Given the description of an element on the screen output the (x, y) to click on. 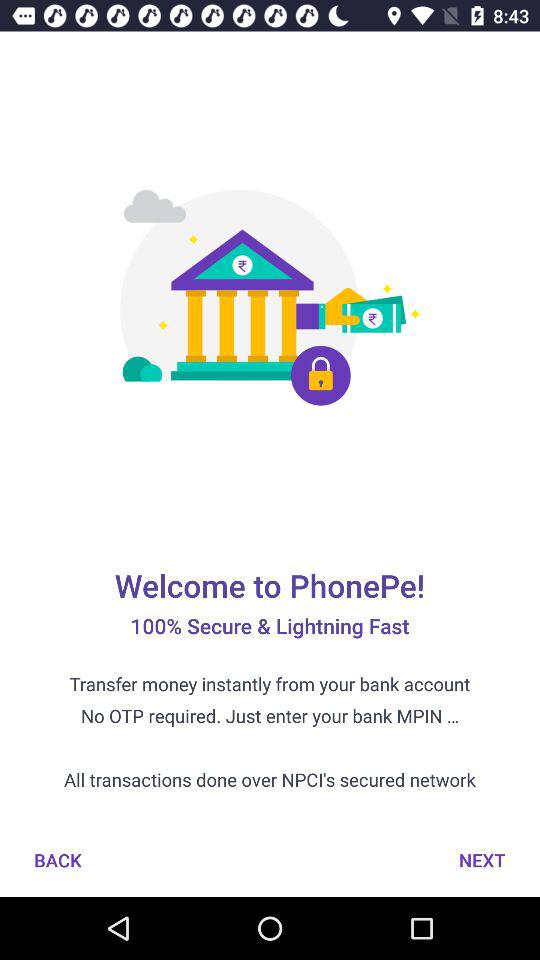
click the icon next to back (482, 859)
